Given the description of an element on the screen output the (x, y) to click on. 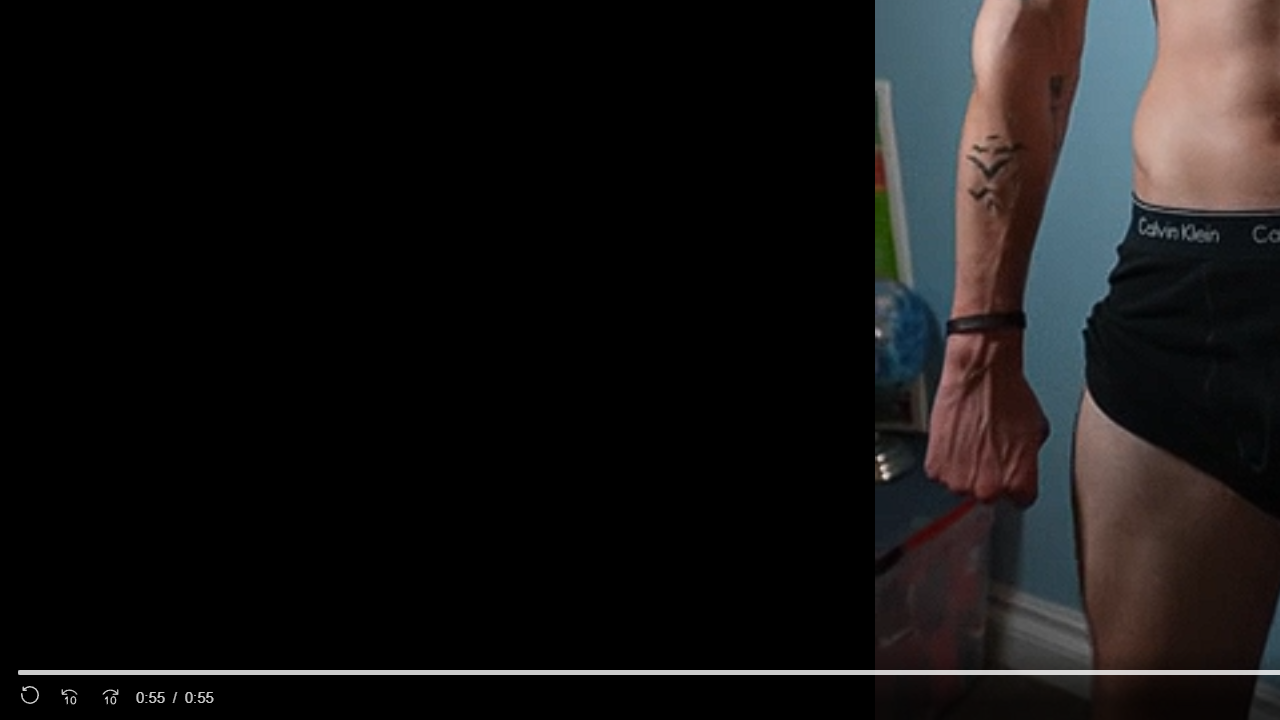
Replay (29, 697)
Seek Forward (109, 697)
Seek Back (69, 697)
